Given the description of an element on the screen output the (x, y) to click on. 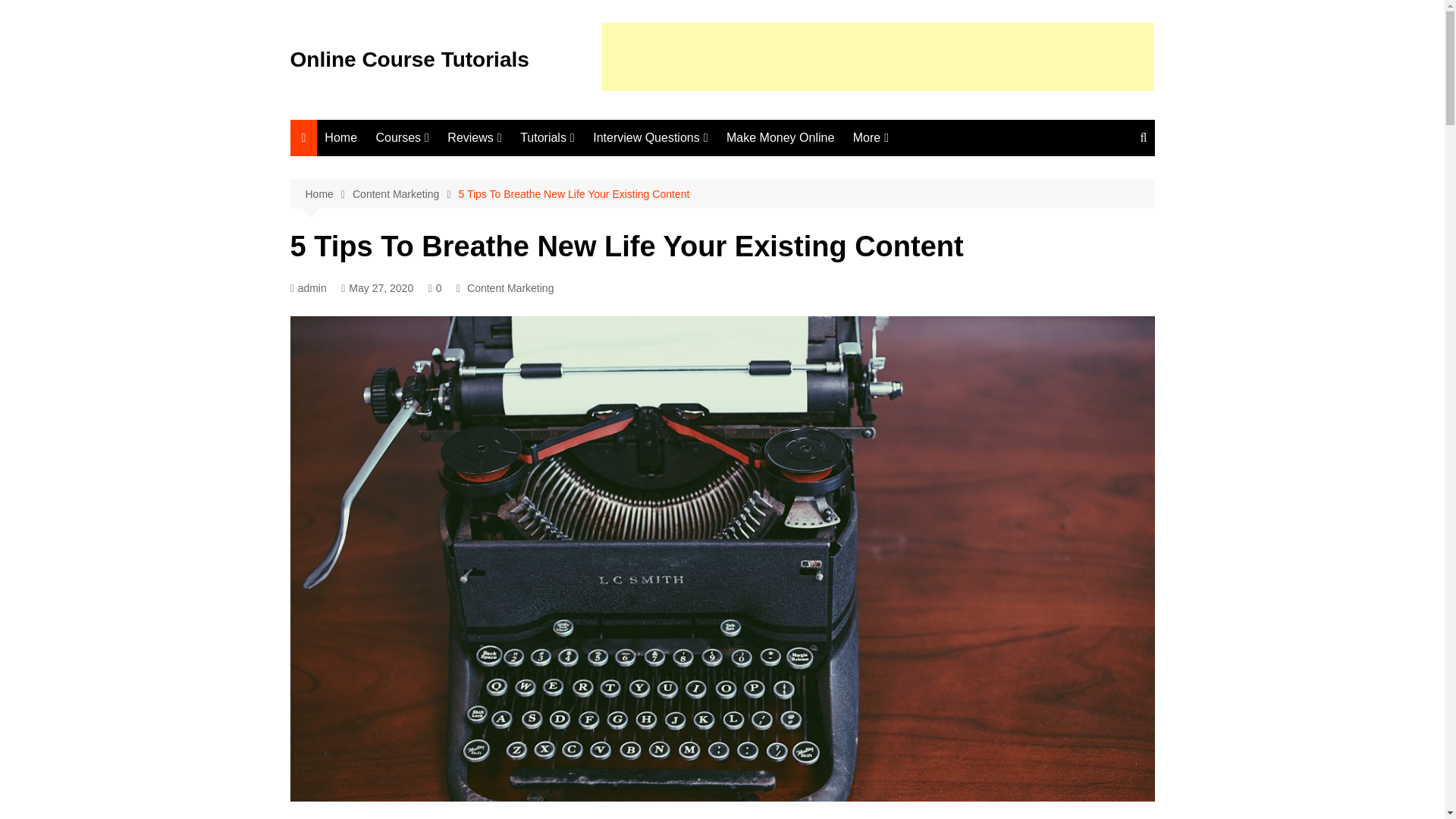
Online Course Tutorials (408, 59)
Udacity Full Stack JavaScript Developer Nanodegree Review (523, 498)
10 Best Hadoop Courses, Classes with Certifications (451, 263)
Udacity Data Analyst Nanodegree Review (523, 631)
10 best Codecademy courses (451, 175)
Udacity SQL for Data analysis nanodegree Review (523, 181)
Udacity Enterprise Security Nanodegree Review (523, 276)
Udacity Computer Vision Nanodegree Review (523, 816)
